Given the description of an element on the screen output the (x, y) to click on. 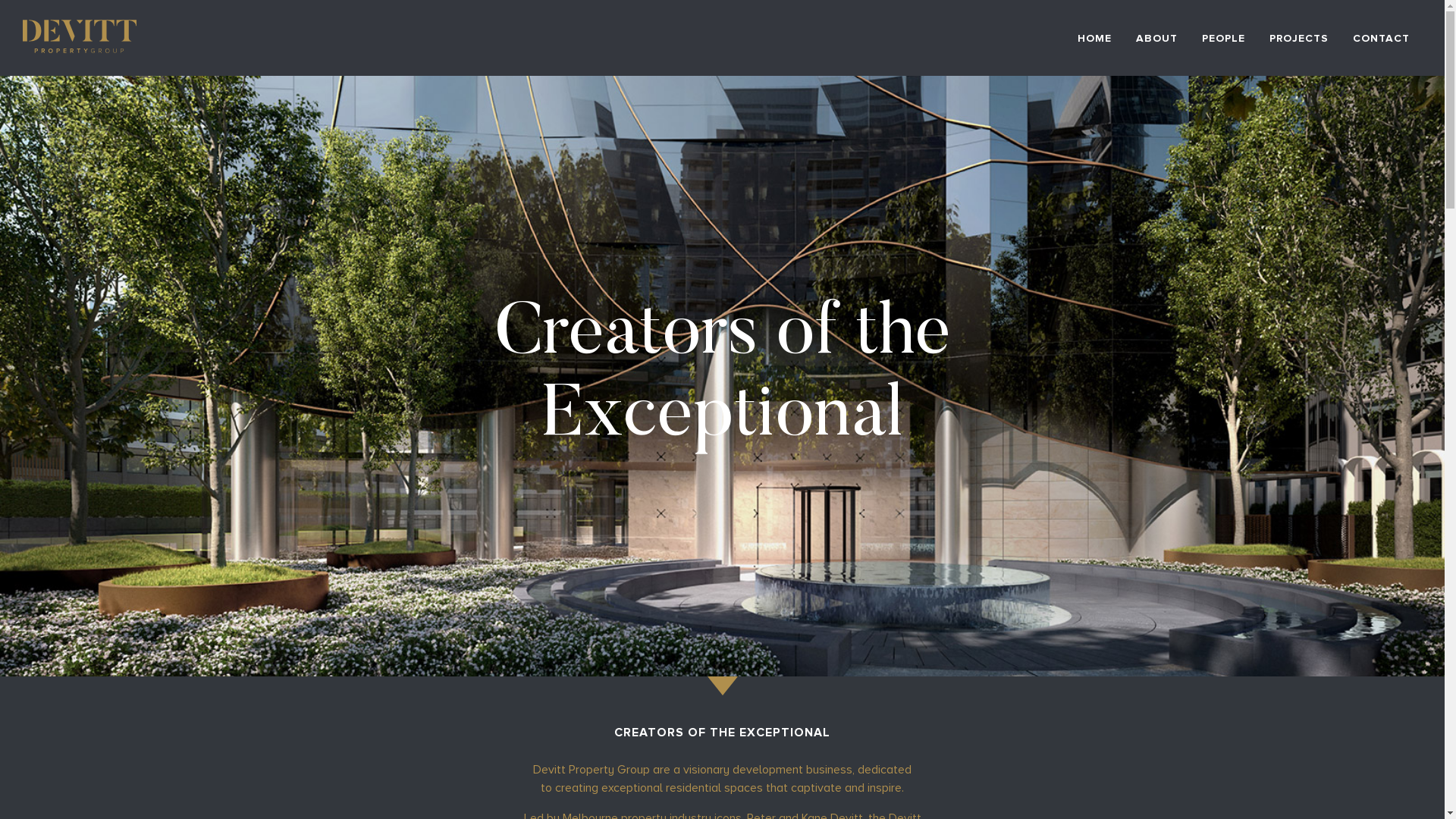
ABOUT Element type: text (1156, 37)
PEOPLE Element type: text (1223, 37)
HOME Element type: text (1094, 37)
CONTACT Element type: text (1380, 37)
PROJECTS Element type: text (1298, 37)
